Given the description of an element on the screen output the (x, y) to click on. 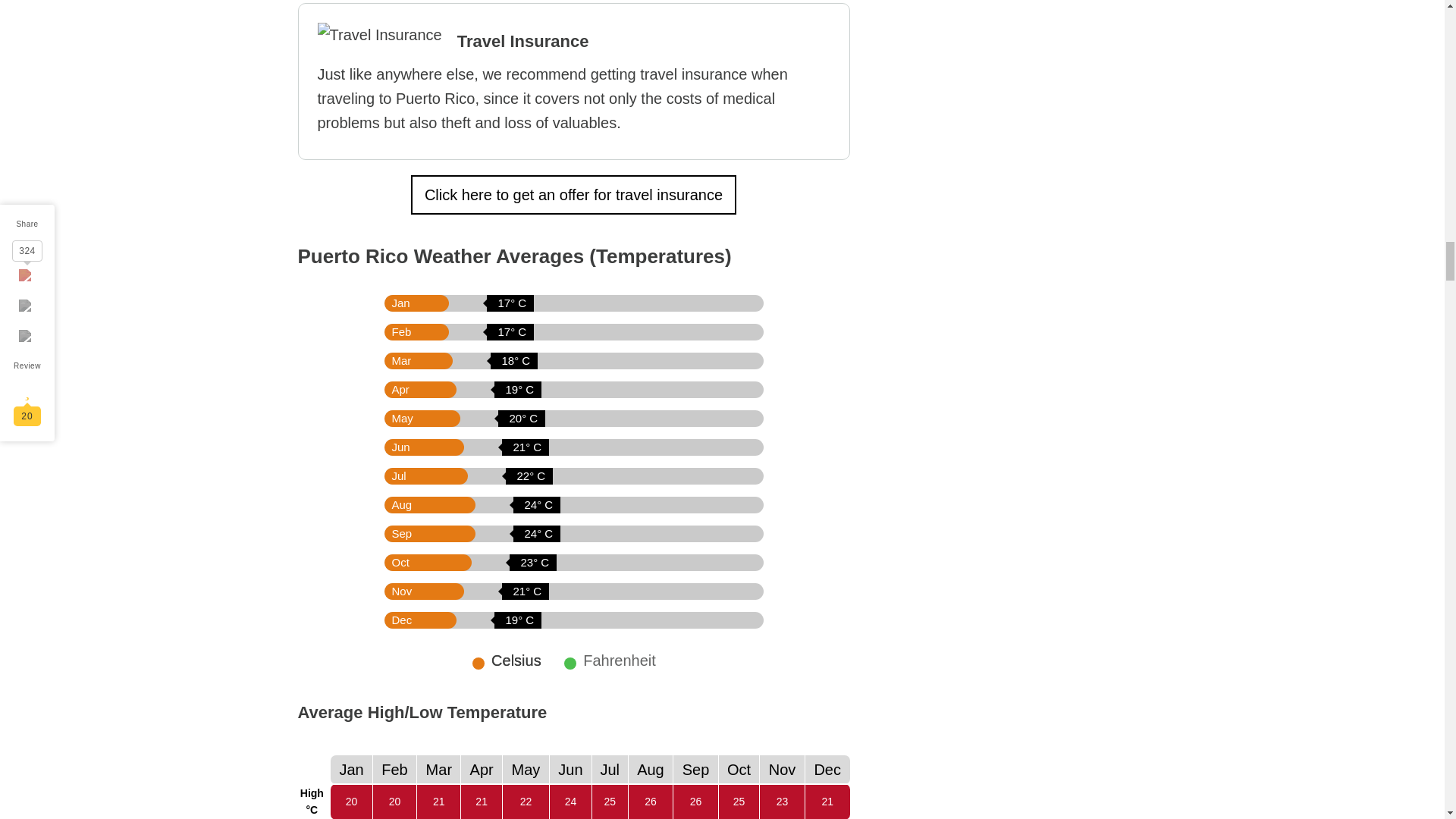
Click here to get an offer for travel insurance (573, 194)
